Given the description of an element on the screen output the (x, y) to click on. 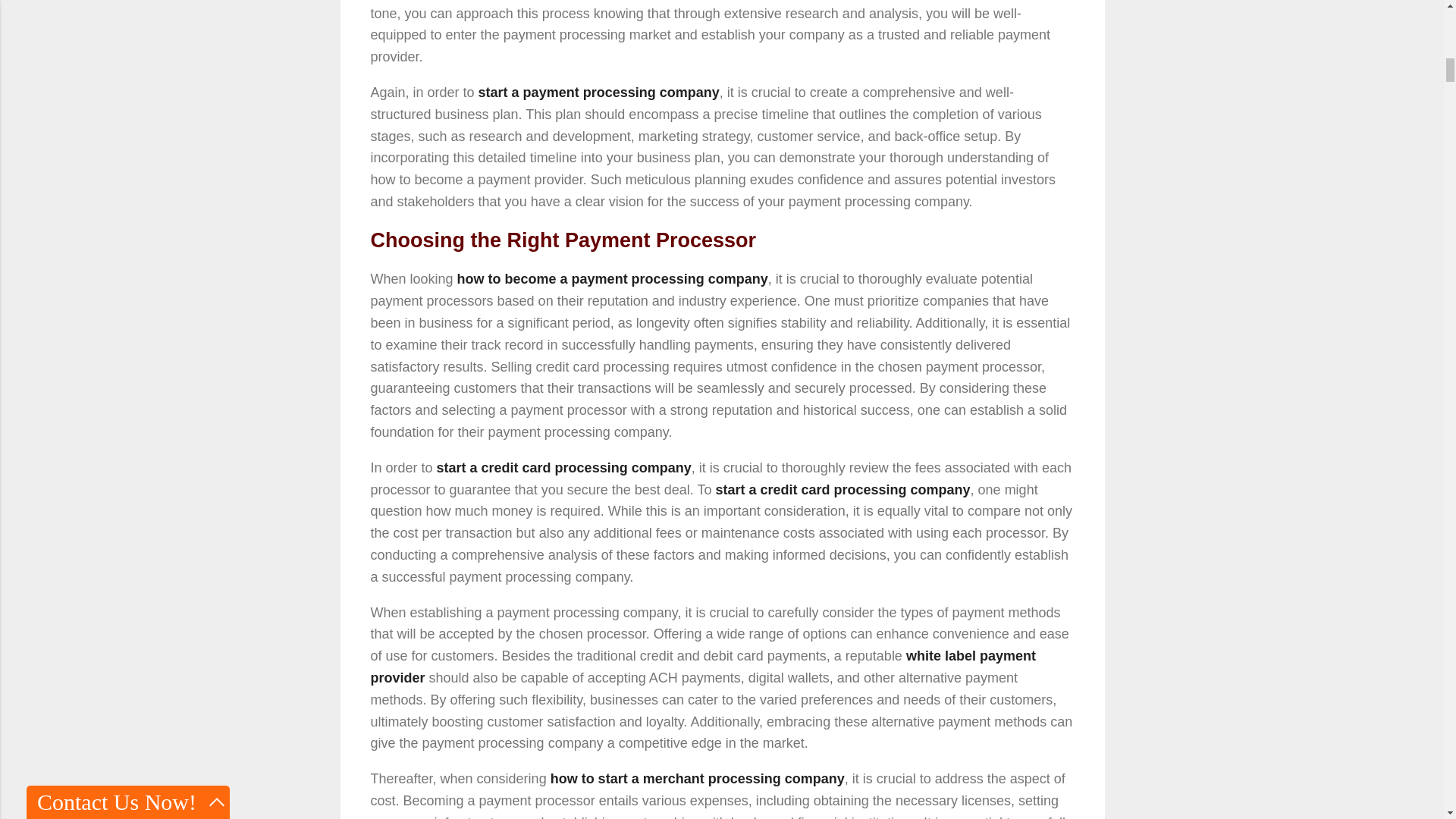
how to become a payment processing company (612, 278)
how to start a merchant processing company (697, 778)
start a payment processing company (599, 92)
start a credit card processing company (563, 467)
white label payment provider (702, 666)
start a credit card processing company (841, 489)
